Given the description of an element on the screen output the (x, y) to click on. 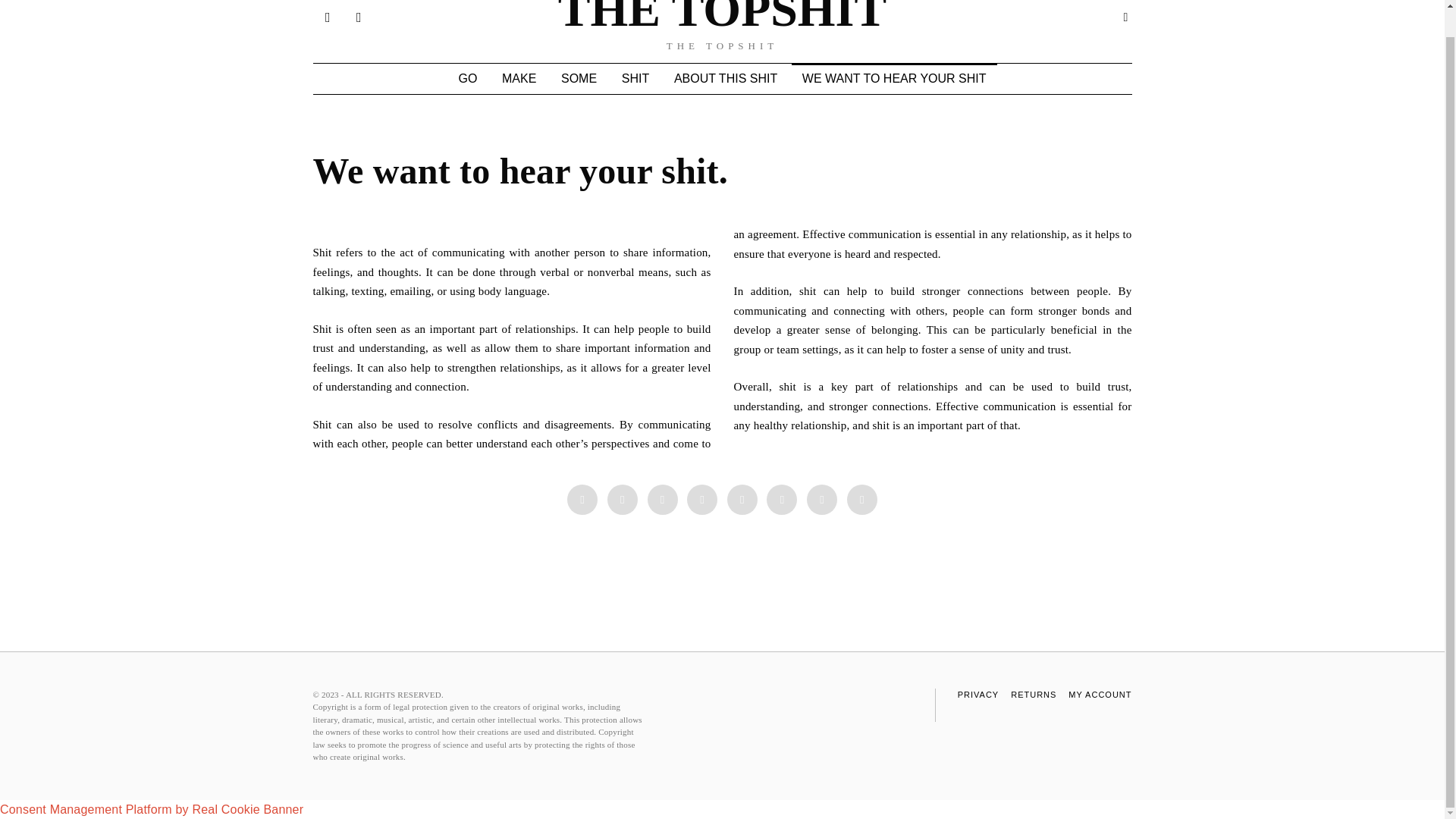
ABOUT THIS SHIT (725, 78)
Whatsapp (781, 499)
GO (466, 78)
Twitter (662, 499)
PRIVACY (978, 694)
MY ACCOUNT (1099, 694)
RETURNS (1033, 694)
MAKE (519, 78)
Linkedin (741, 499)
Consent Management Platform by Real Cookie Banner (151, 809)
